Given the description of an element on the screen output the (x, y) to click on. 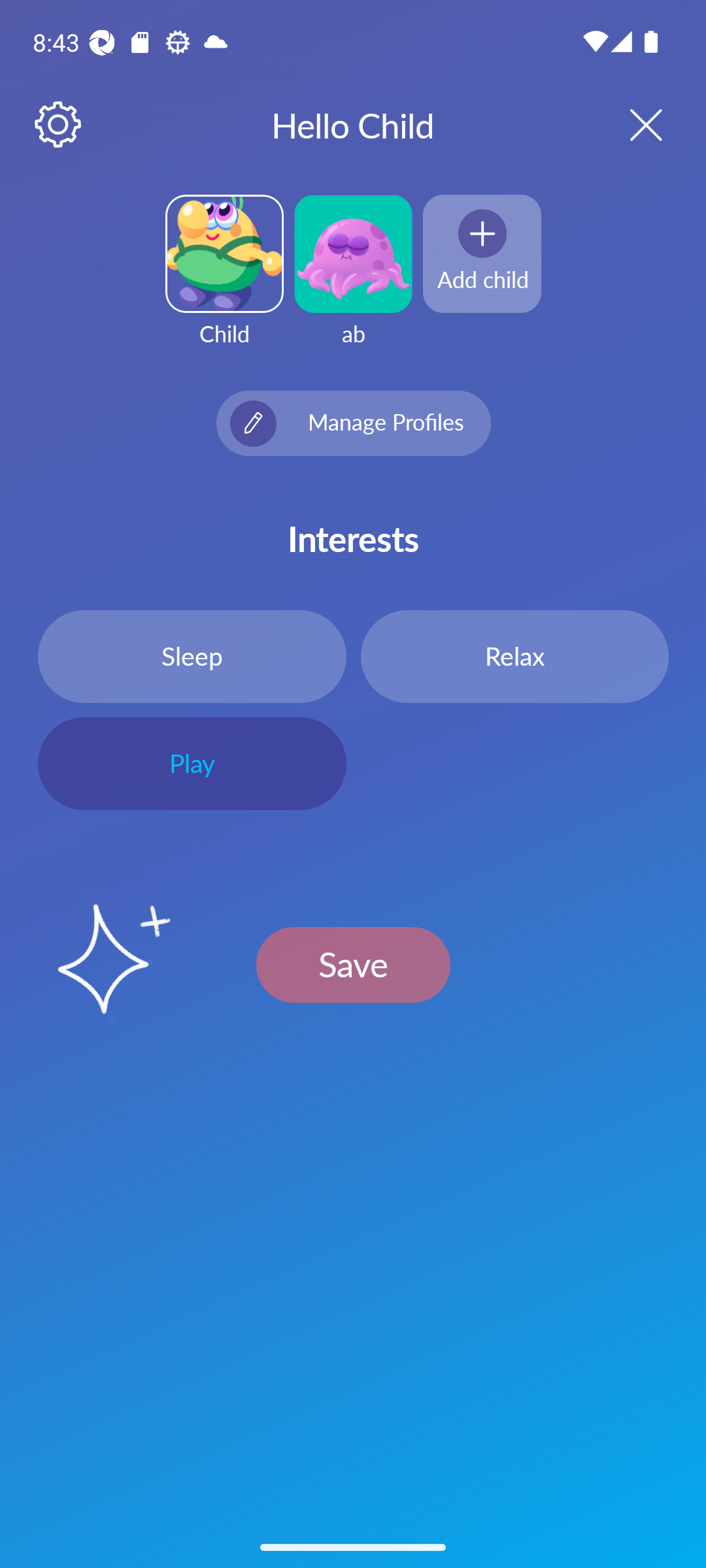
Close (629, 124)
Settings (58, 125)
Child (224, 282)
ab (353, 282)
Add child (481, 253)
icon Manage Profiles (353, 423)
Sleep (192, 655)
Relax (514, 655)
Play (192, 764)
Save (353, 964)
